Given the description of an element on the screen output the (x, y) to click on. 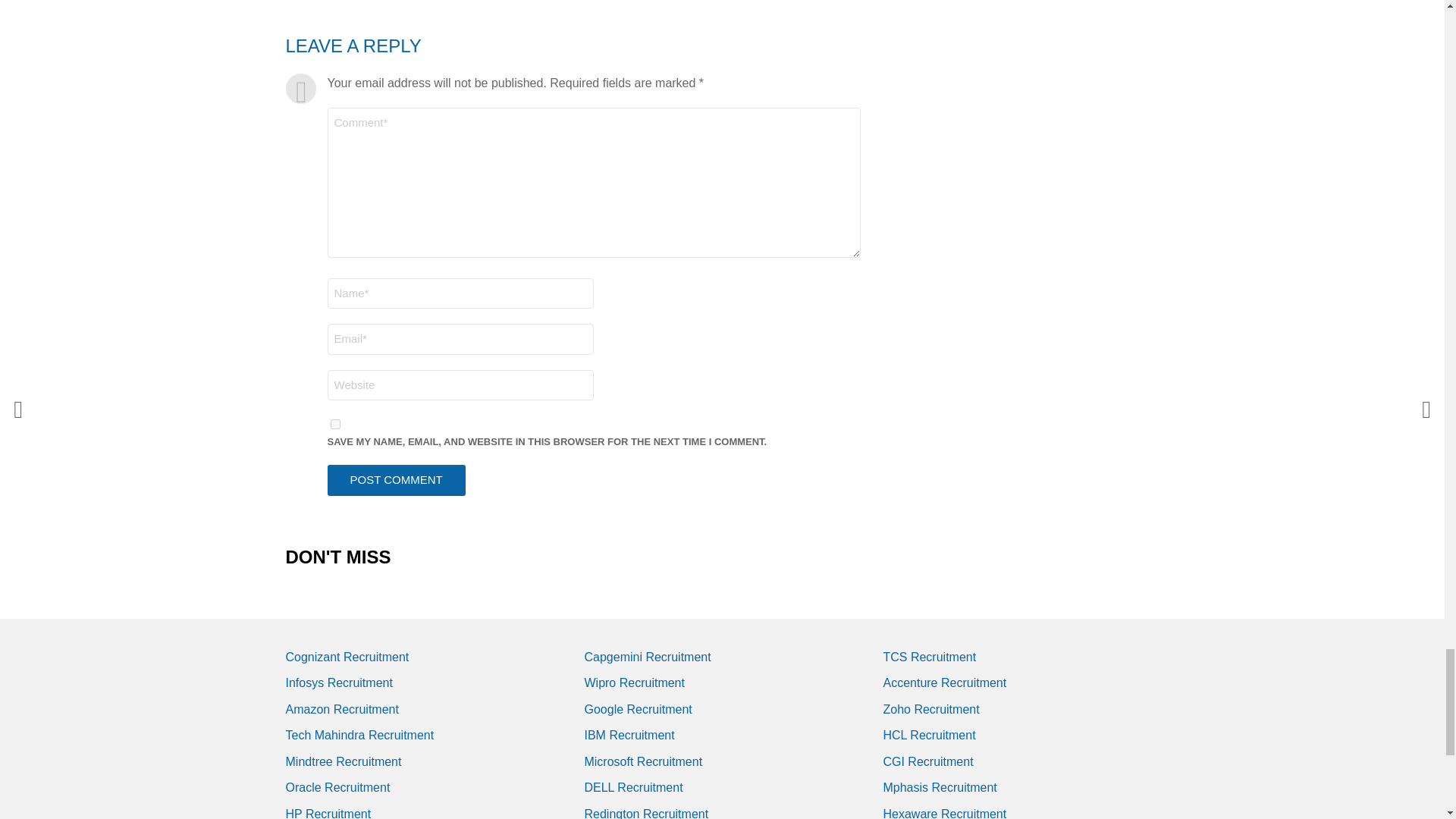
Post Comment (396, 480)
yes (335, 424)
